Given the description of an element on the screen output the (x, y) to click on. 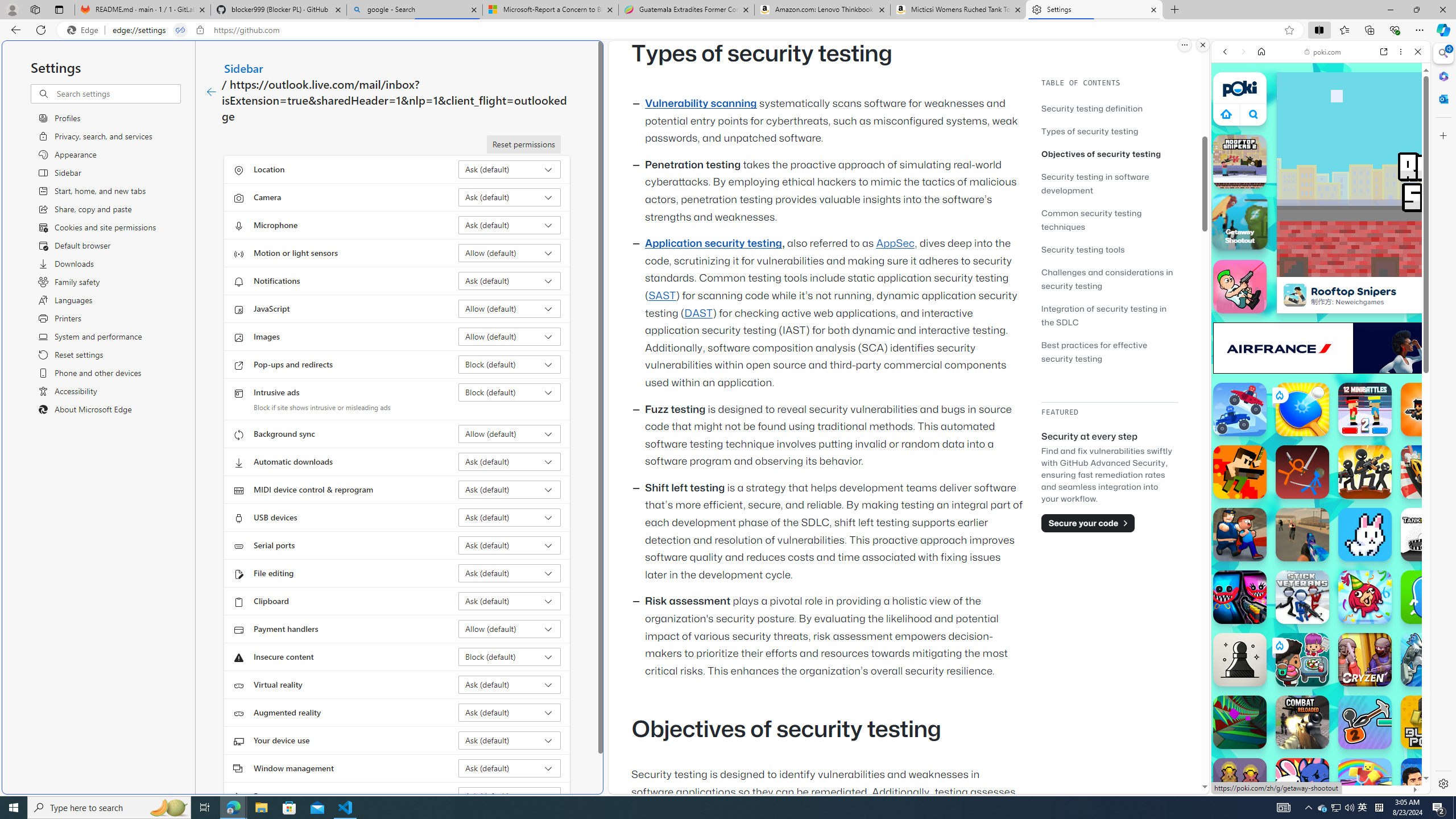
Games for Girls (1320, 406)
Location Ask (default) (509, 169)
Animal Arena Animal Arena (1302, 784)
Your device use Ask (default) (509, 740)
More options. (1183, 45)
12 Mini Battles 2 (1364, 409)
SEARCH TOOLS (1350, 130)
Escape From School (1239, 534)
Integration of security testing in the SDLC (1104, 314)
Rooftop Snipers 2 Rooftop Snipers 2 (1239, 161)
Sports Games (1320, 378)
Combat Reloaded (1302, 722)
